Given the description of an element on the screen output the (x, y) to click on. 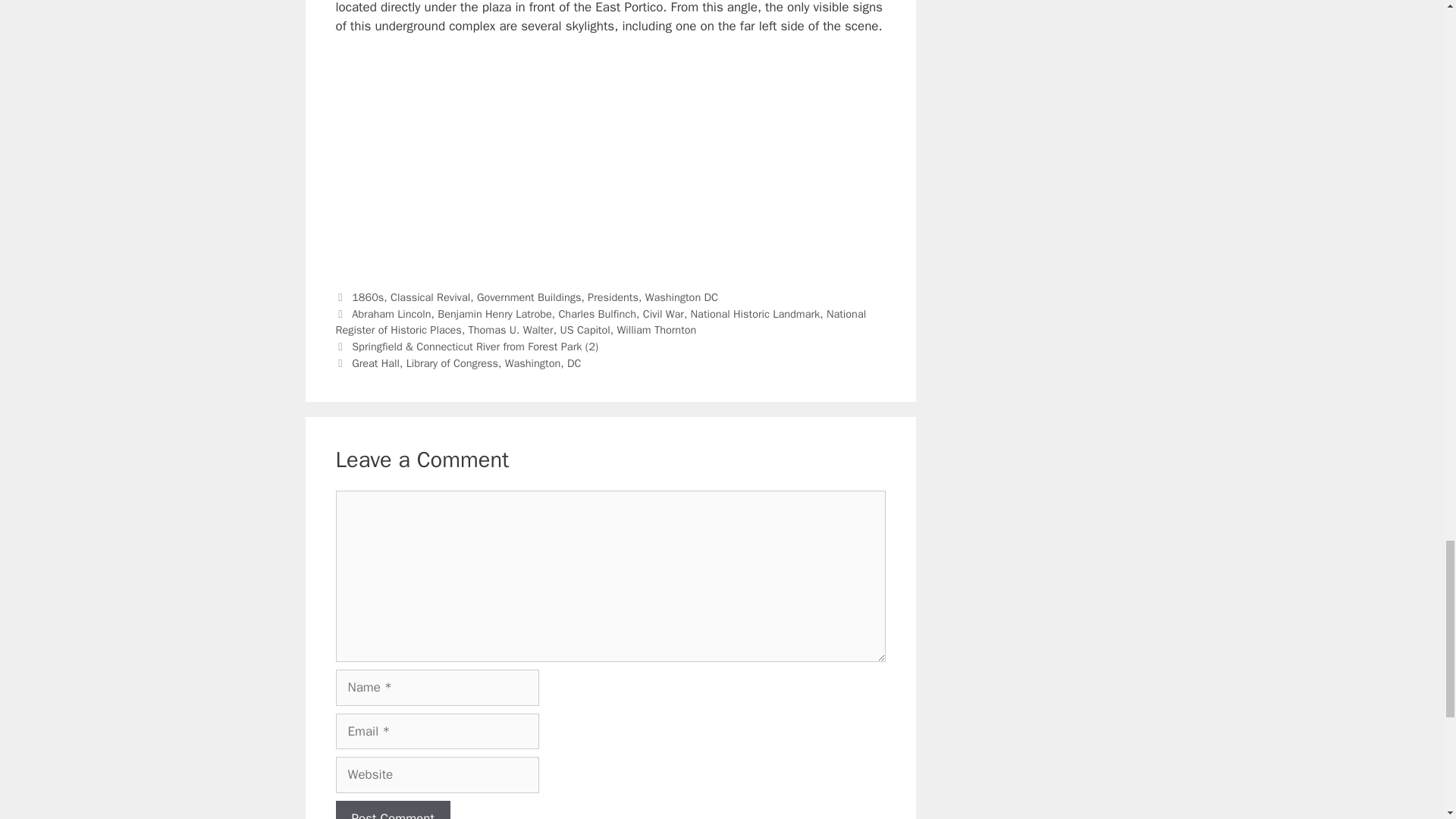
Post Comment (391, 809)
